Given the description of an element on the screen output the (x, y) to click on. 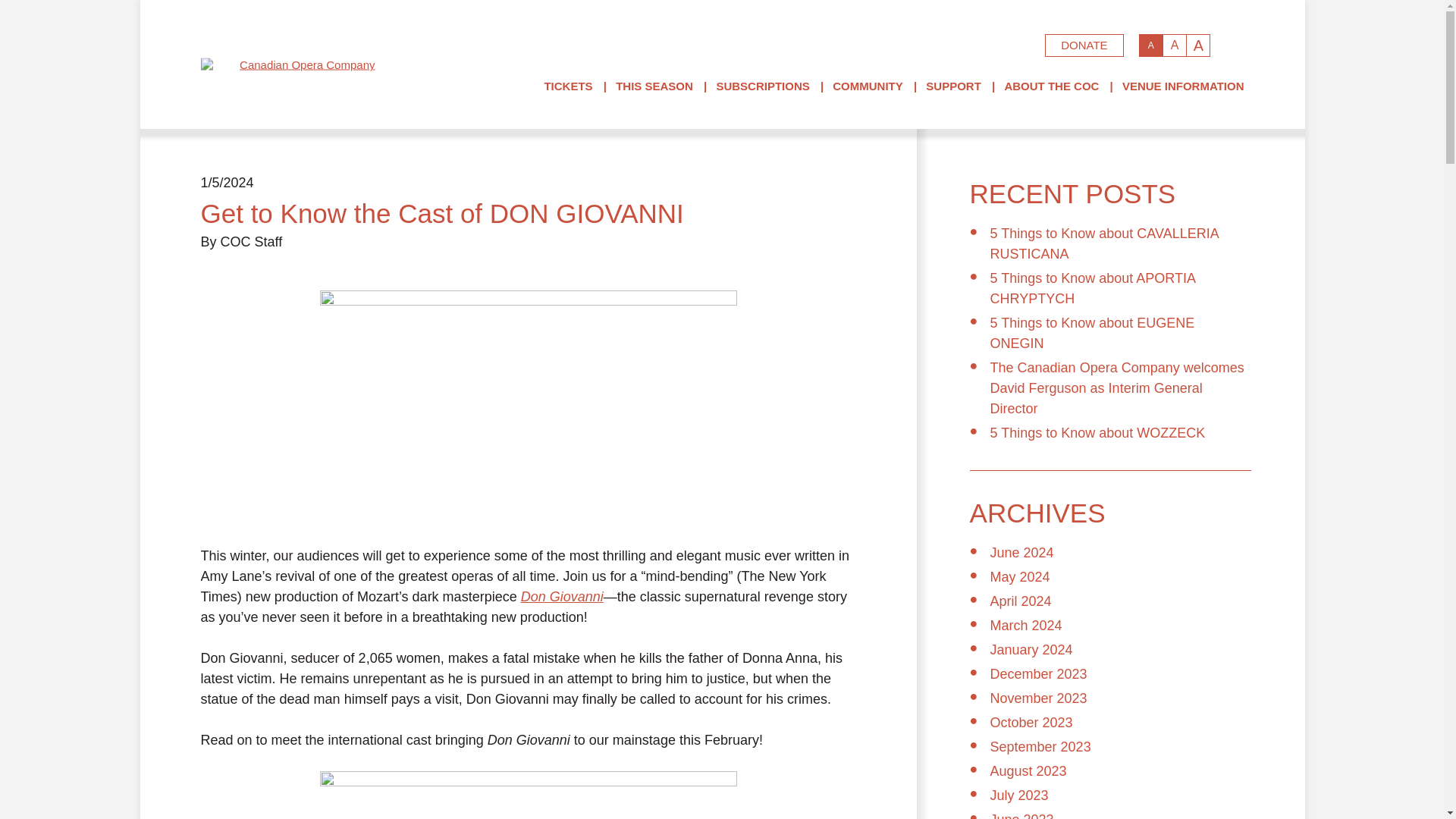
November 2023 (1038, 698)
July 2023 (1019, 795)
TICKETS (567, 85)
August 2023 (1028, 770)
March 2024 (1026, 625)
June 2023 (1022, 815)
SUBSCRIPTIONS (762, 85)
October 2023 (1031, 722)
April 2024 (1020, 601)
SUPPORT (953, 85)
December 2023 (1038, 673)
June 2024 (1022, 552)
January 2024 (1031, 649)
May 2024 (1019, 576)
Don Giovanni (562, 596)
